Given the description of an element on the screen output the (x, y) to click on. 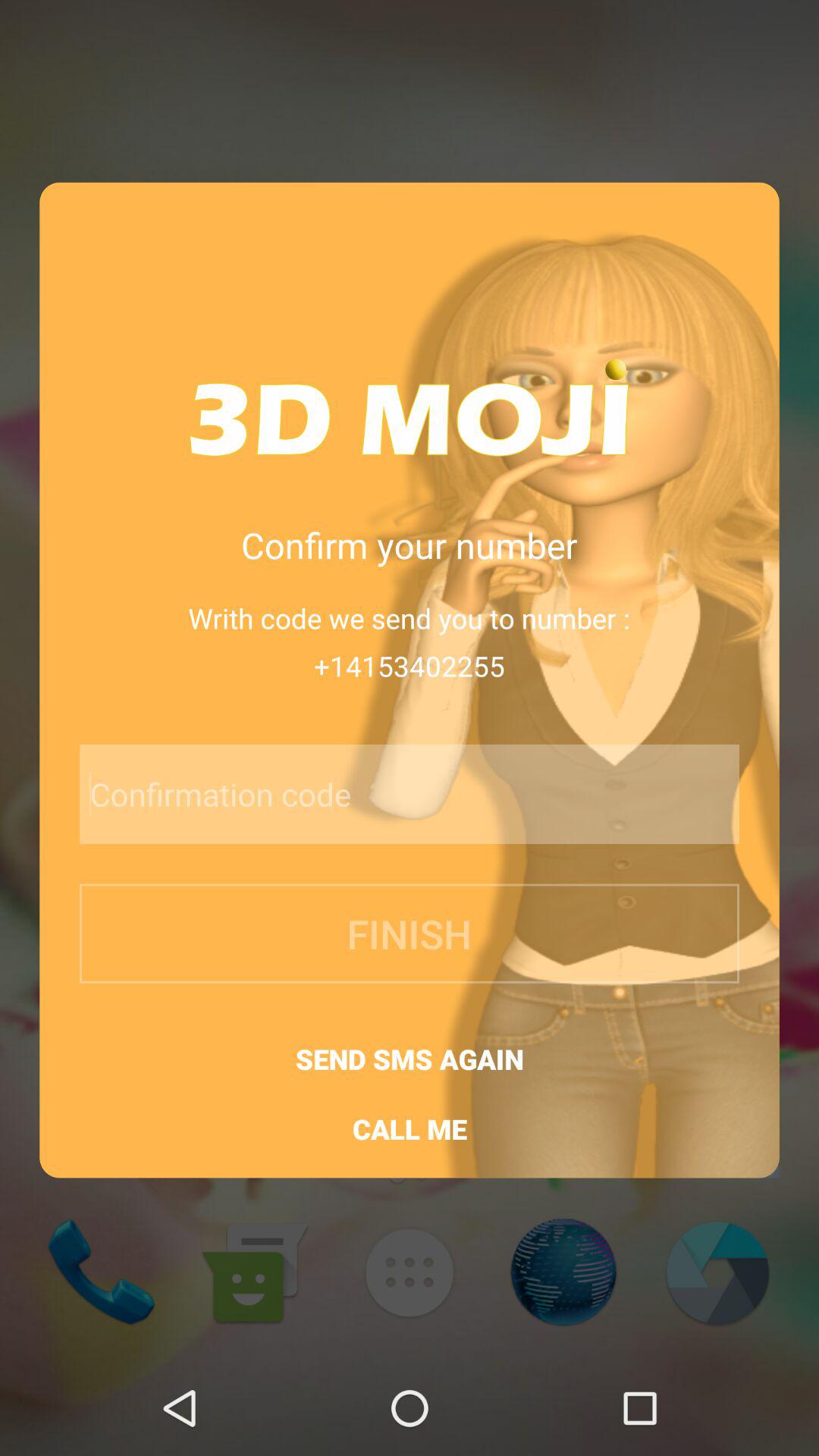
turn off icon below +14153402255 (369, 794)
